Given the description of an element on the screen output the (x, y) to click on. 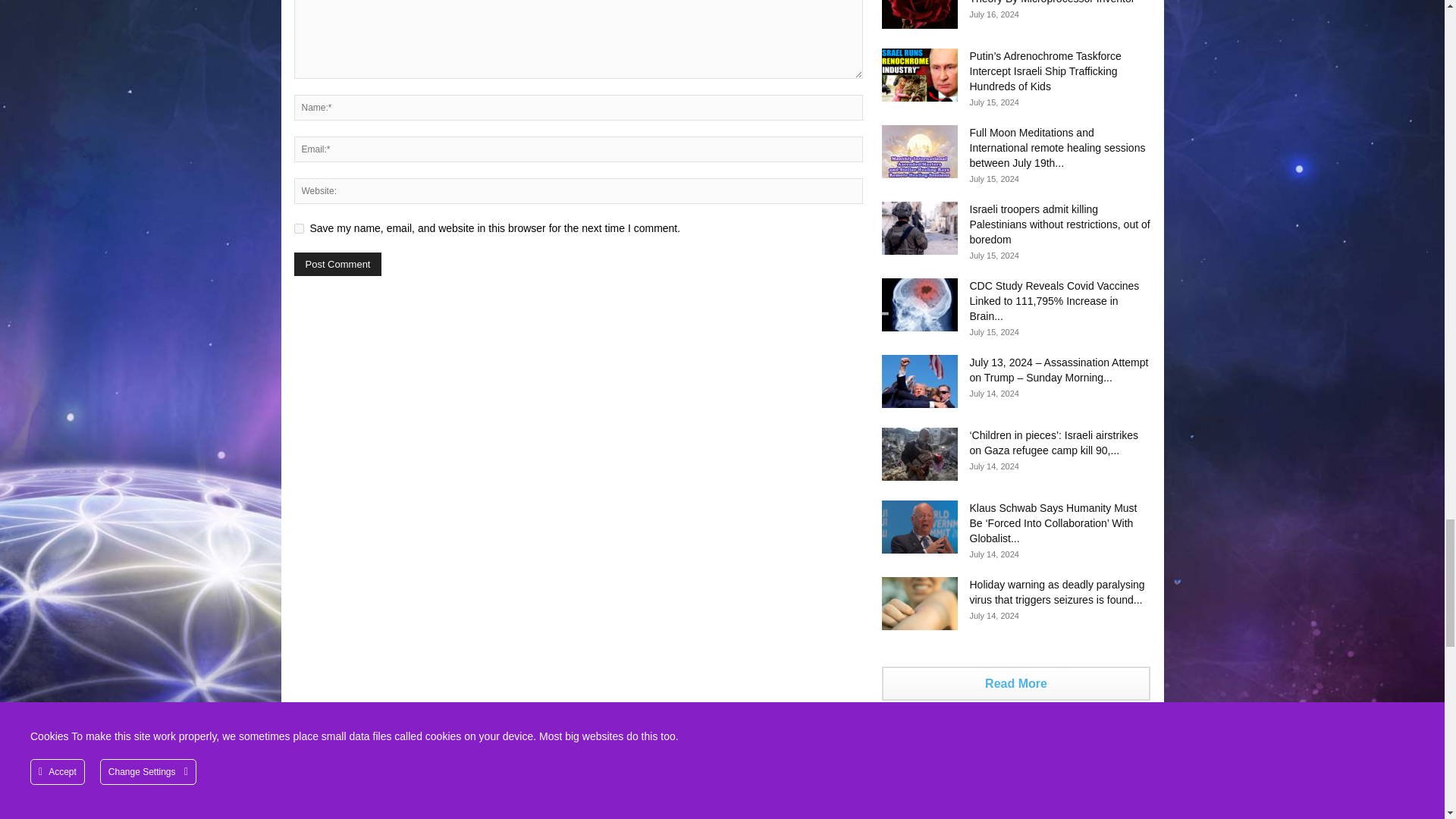
Post Comment (337, 264)
yes (299, 228)
